Given the description of an element on the screen output the (x, y) to click on. 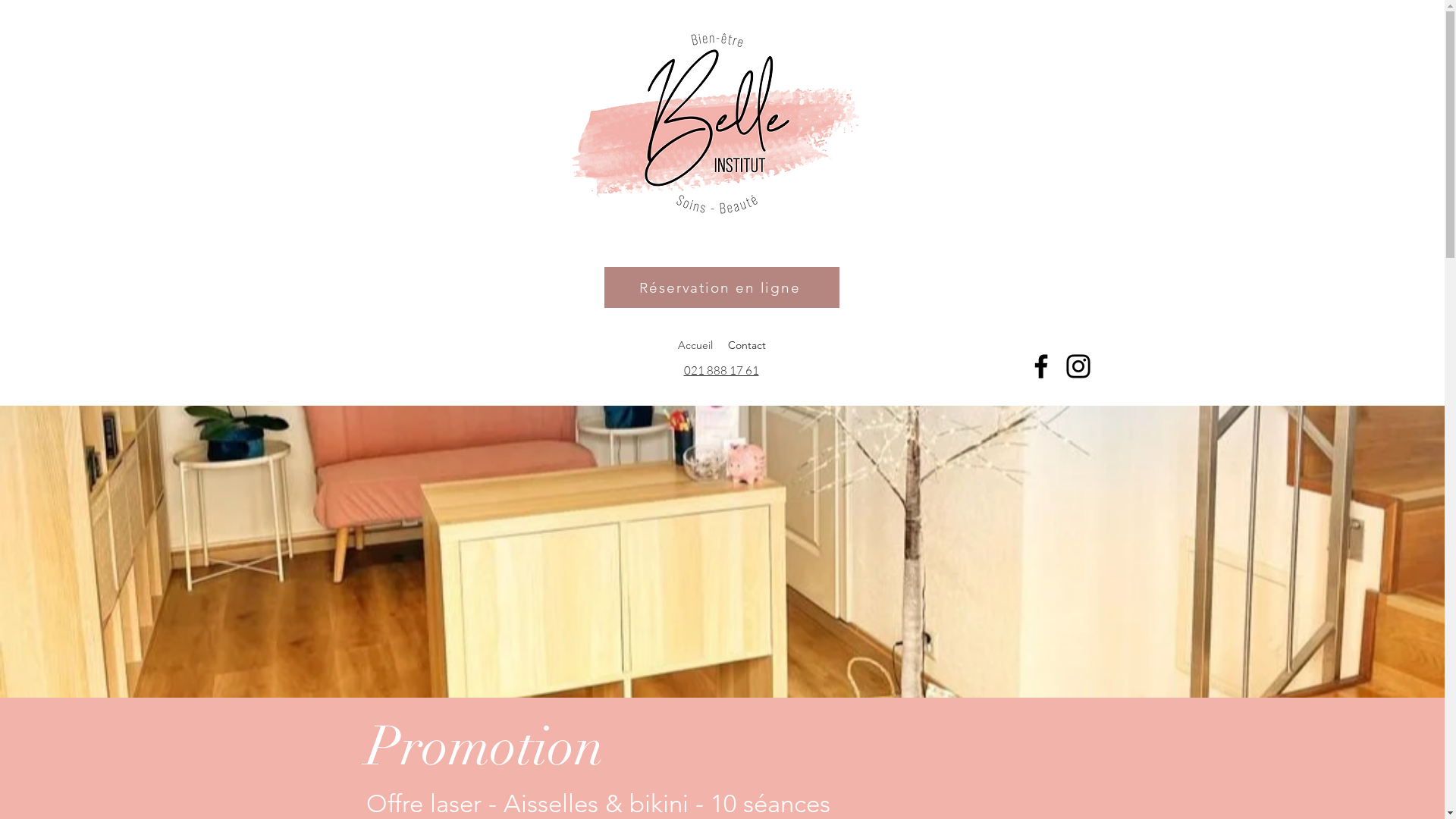
Accueil Element type: text (695, 344)
021 888 17 61 Element type: text (721, 370)
Contact Element type: text (746, 344)
